Given the description of an element on the screen output the (x, y) to click on. 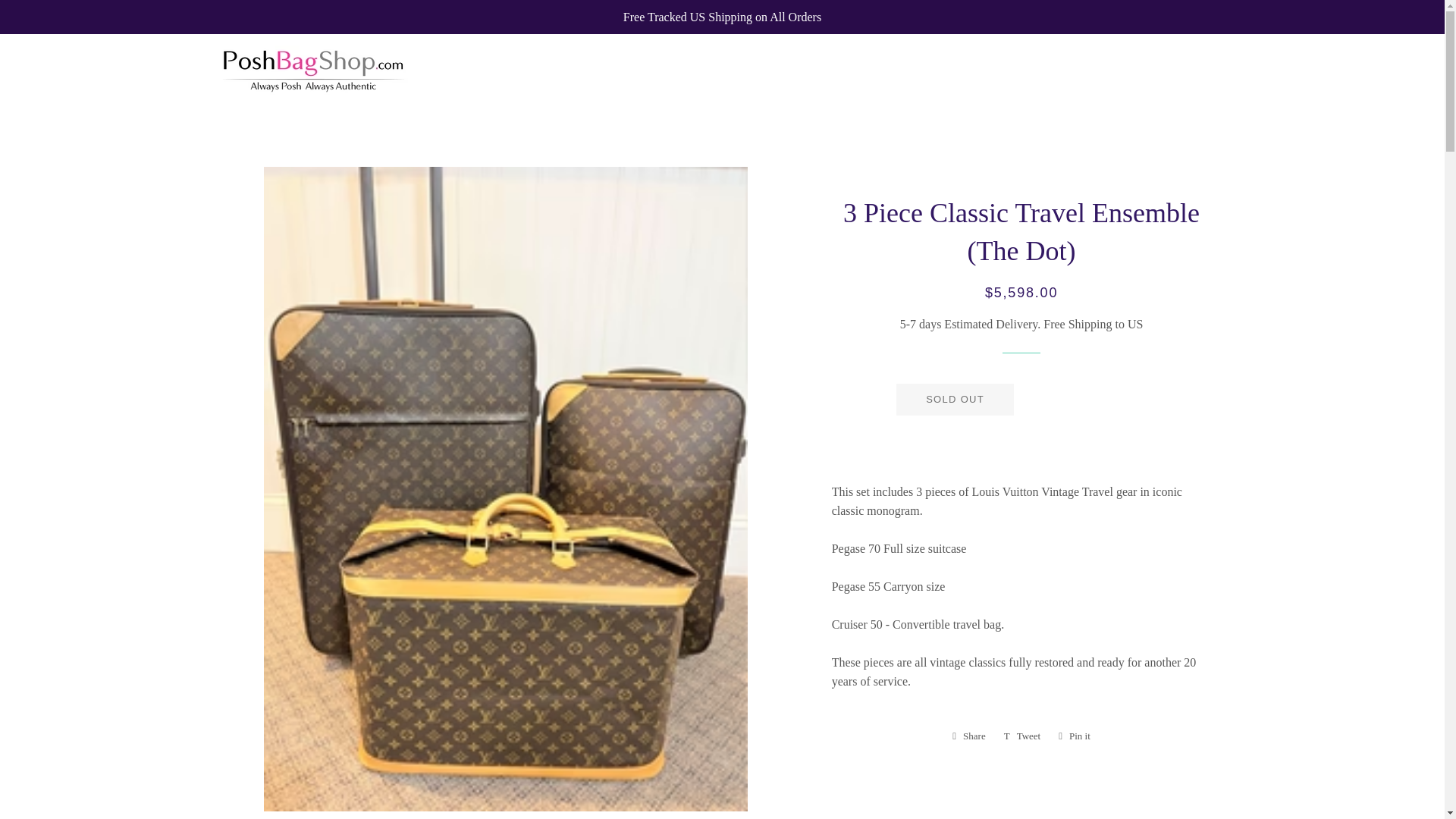
Tweet on Twitter (1021, 735)
Pin on Pinterest (1074, 735)
Share on Facebook (1074, 735)
SOLD OUT (968, 735)
